Given the description of an element on the screen output the (x, y) to click on. 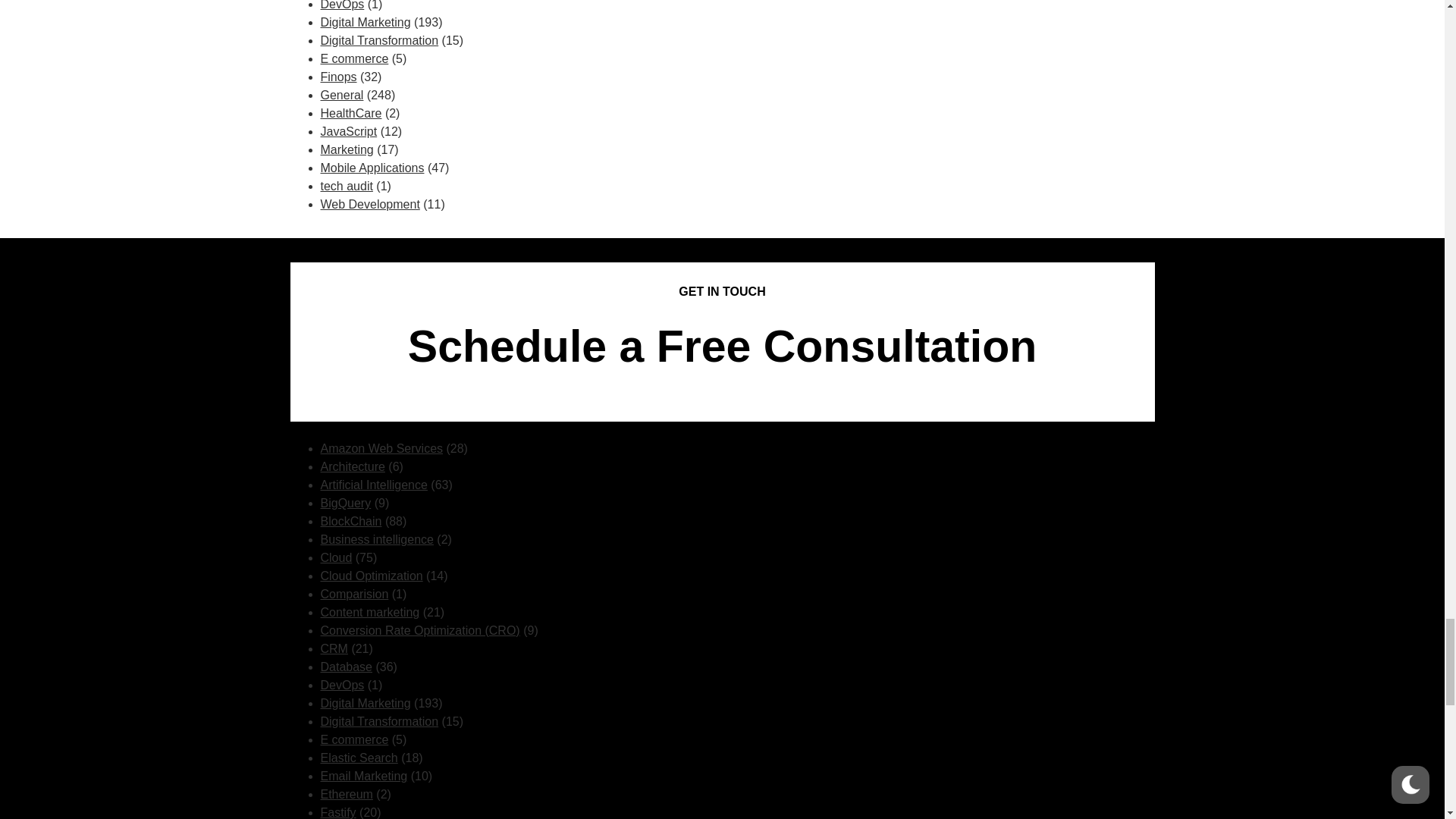
DevOps (342, 5)
Digital Marketing (365, 21)
E commerce (354, 58)
Digital Transformation (379, 40)
